Given the description of an element on the screen output the (x, y) to click on. 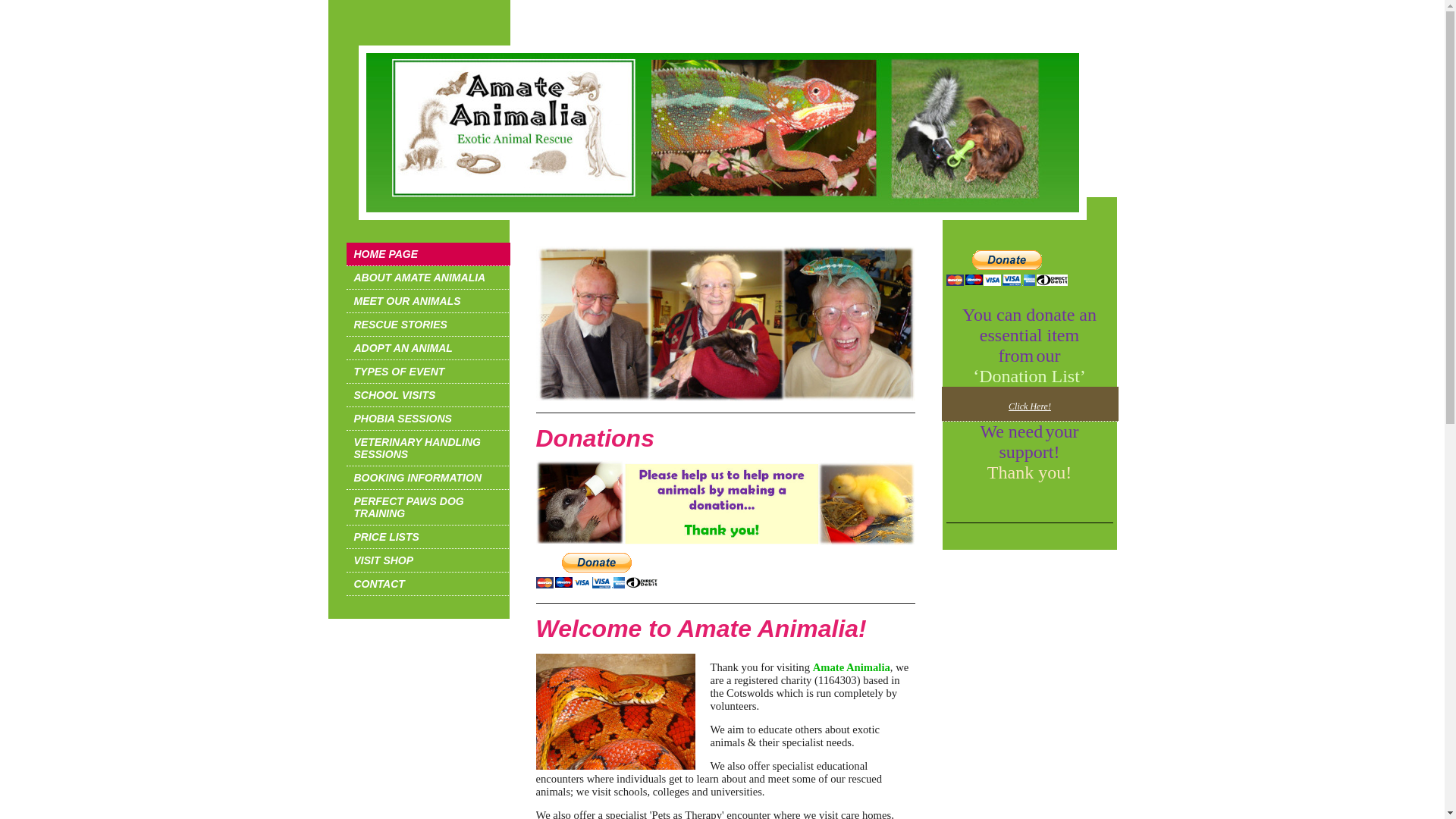
PERFECT PAWS DOG TRAINING (427, 507)
CONTACT (427, 584)
SCHOOL VISITS (427, 395)
VISIT SHOP (427, 560)
VETERINARY HANDLING SESSIONS (427, 448)
ABOUT AMATE ANIMALIA (427, 277)
Click Here! (1030, 406)
RESCUE STORIES (427, 324)
TYPES OF EVENT (427, 372)
PRICE LISTS (427, 536)
ADOPT AN ANIMAL (427, 348)
PHOBIA SESSIONS (427, 418)
BOOKING INFORMATION (427, 477)
HOME PAGE (427, 254)
MEET OUR ANIMALS (427, 300)
